Given the description of an element on the screen output the (x, y) to click on. 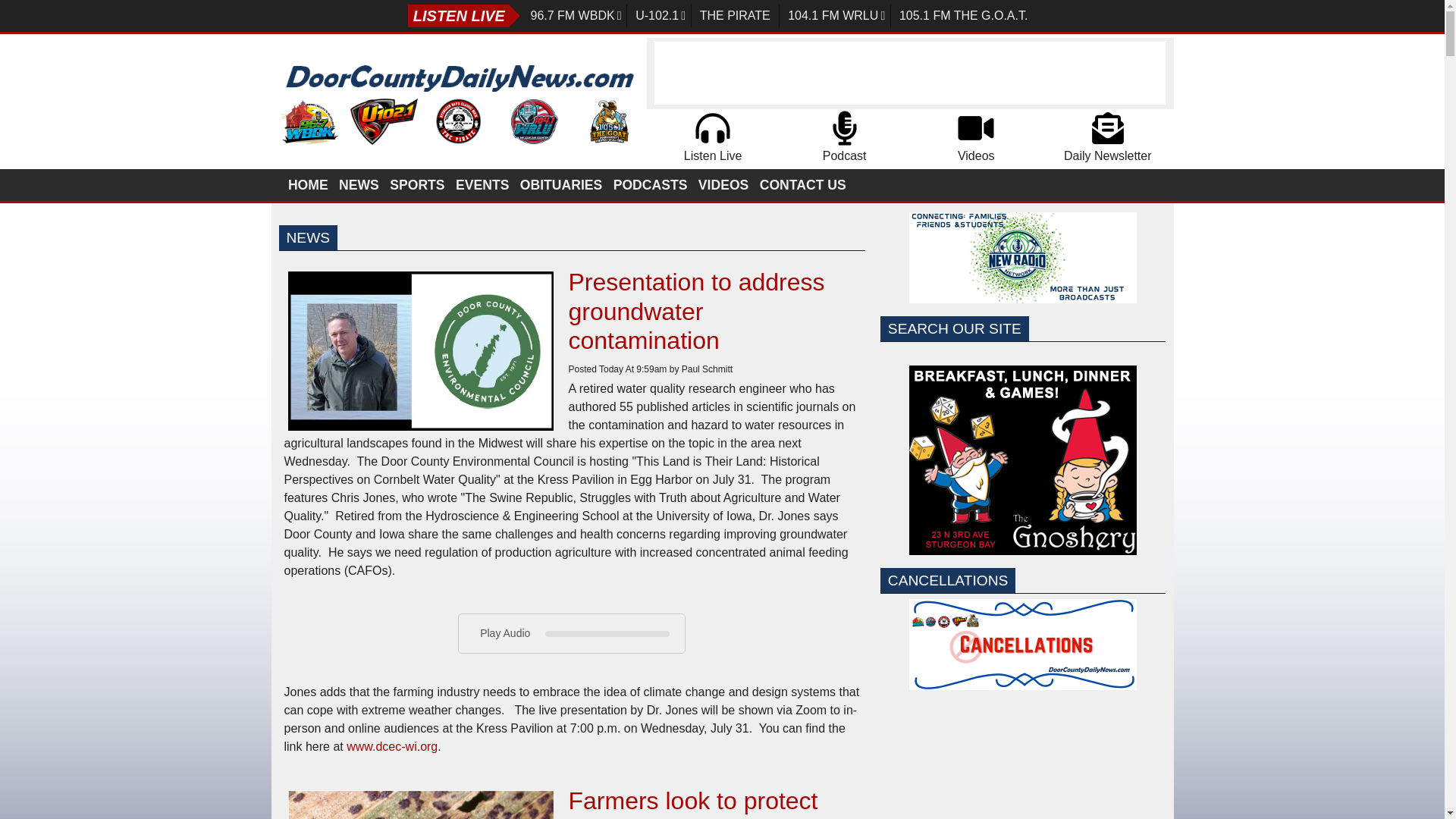
OBITUARIES (561, 184)
SPORTS (418, 184)
U-102.1 (661, 15)
105.1 FM THE G.O.A.T. (963, 15)
PODCASTS (650, 184)
Advertisement (1022, 772)
HOME (308, 184)
THE PIRATE (735, 15)
EVENTS (483, 184)
96.7 FM WBDK (576, 15)
NEWS (359, 184)
104.1 FM WRLU (837, 15)
